Given the description of an element on the screen output the (x, y) to click on. 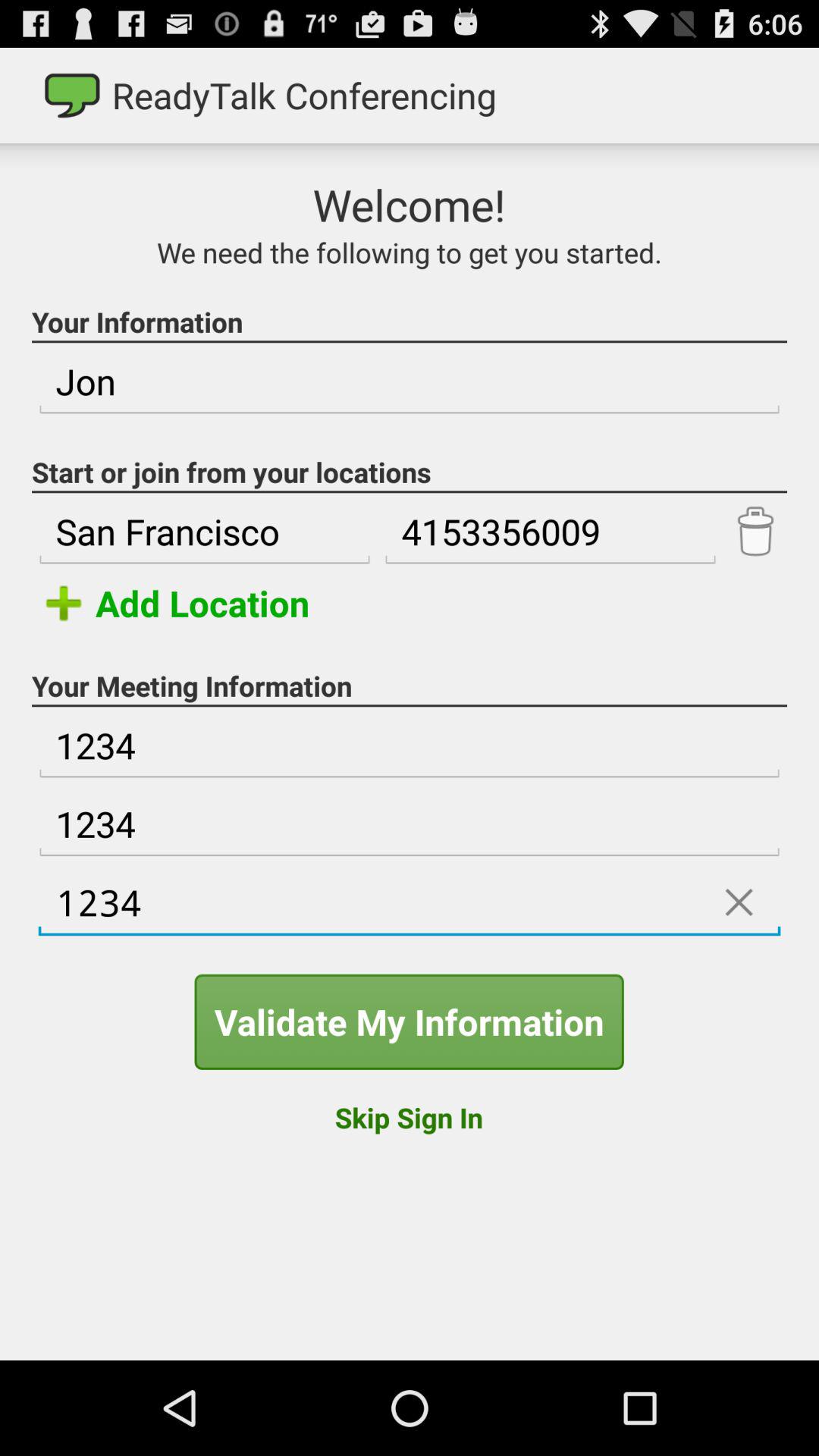
swipe to the san francisco icon (204, 532)
